Given the description of an element on the screen output the (x, y) to click on. 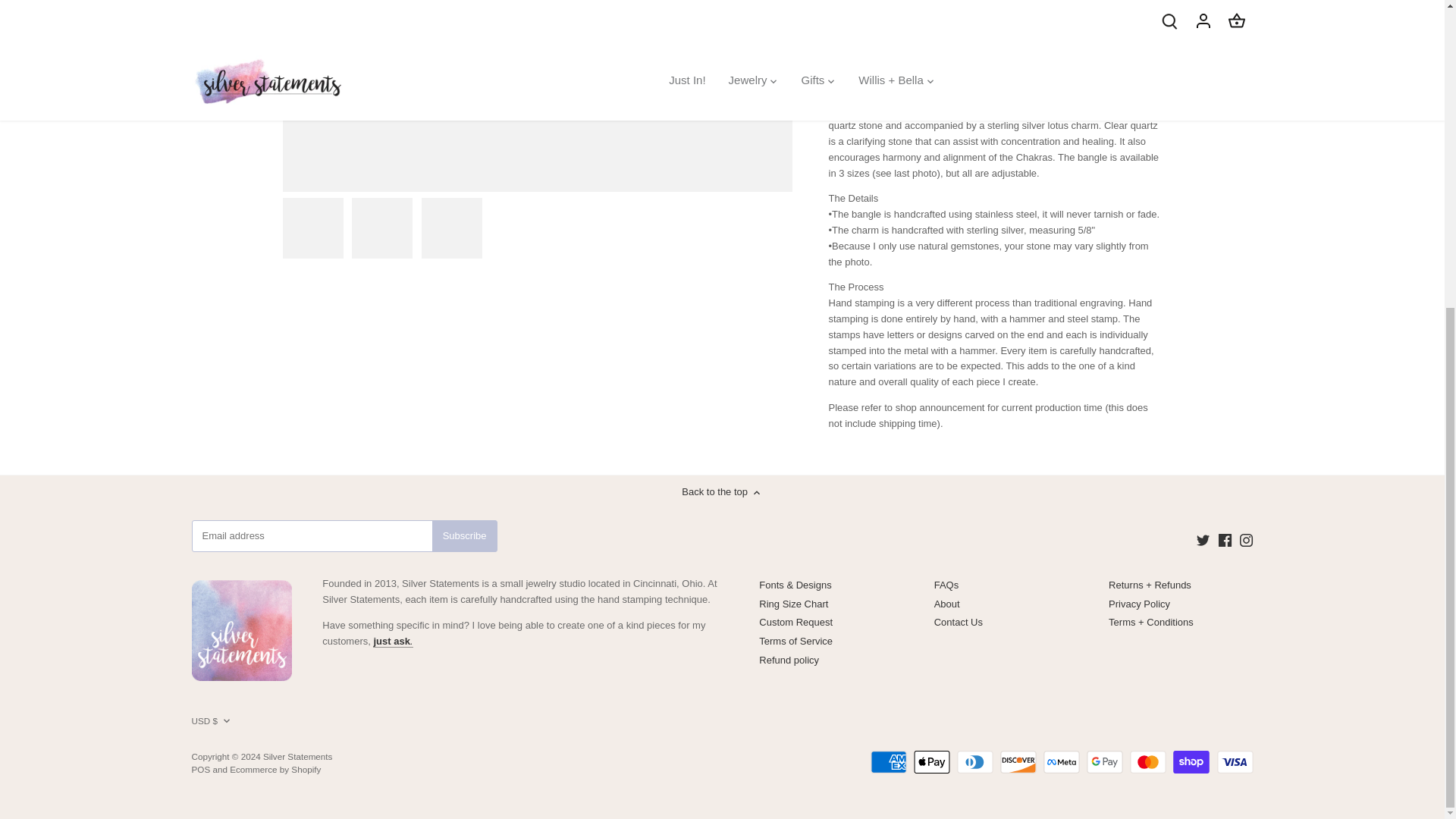
Discover (1018, 762)
Facebook (1224, 540)
American Express (888, 762)
Instagram (1246, 540)
Subscribe (464, 536)
Diners Club (974, 762)
Twitter (1202, 540)
Google Pay (1104, 762)
Custom Jewelry Request (392, 641)
1 (871, 13)
Apple Pay (932, 762)
Meta Pay (1061, 762)
